Given the description of an element on the screen output the (x, y) to click on. 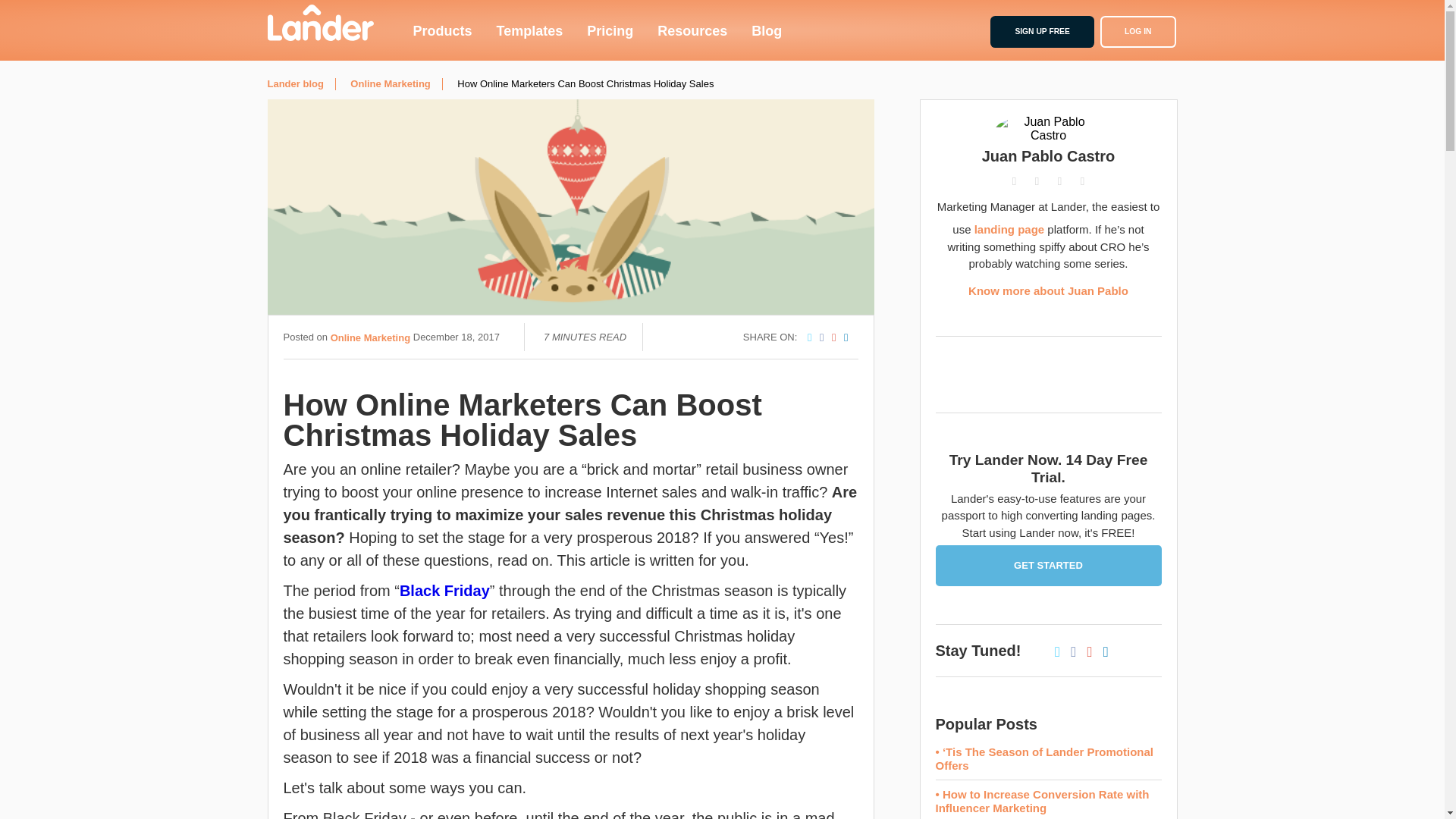
Blog (766, 30)
Social Media (672, 24)
Products (441, 30)
Go back to home (319, 22)
Pricing (609, 30)
Templates (529, 30)
Resources (692, 30)
Conversion Optimization (336, 24)
SIGN UP FREE (1041, 31)
View all posts in Online Marketing (370, 337)
